Given the description of an element on the screen output the (x, y) to click on. 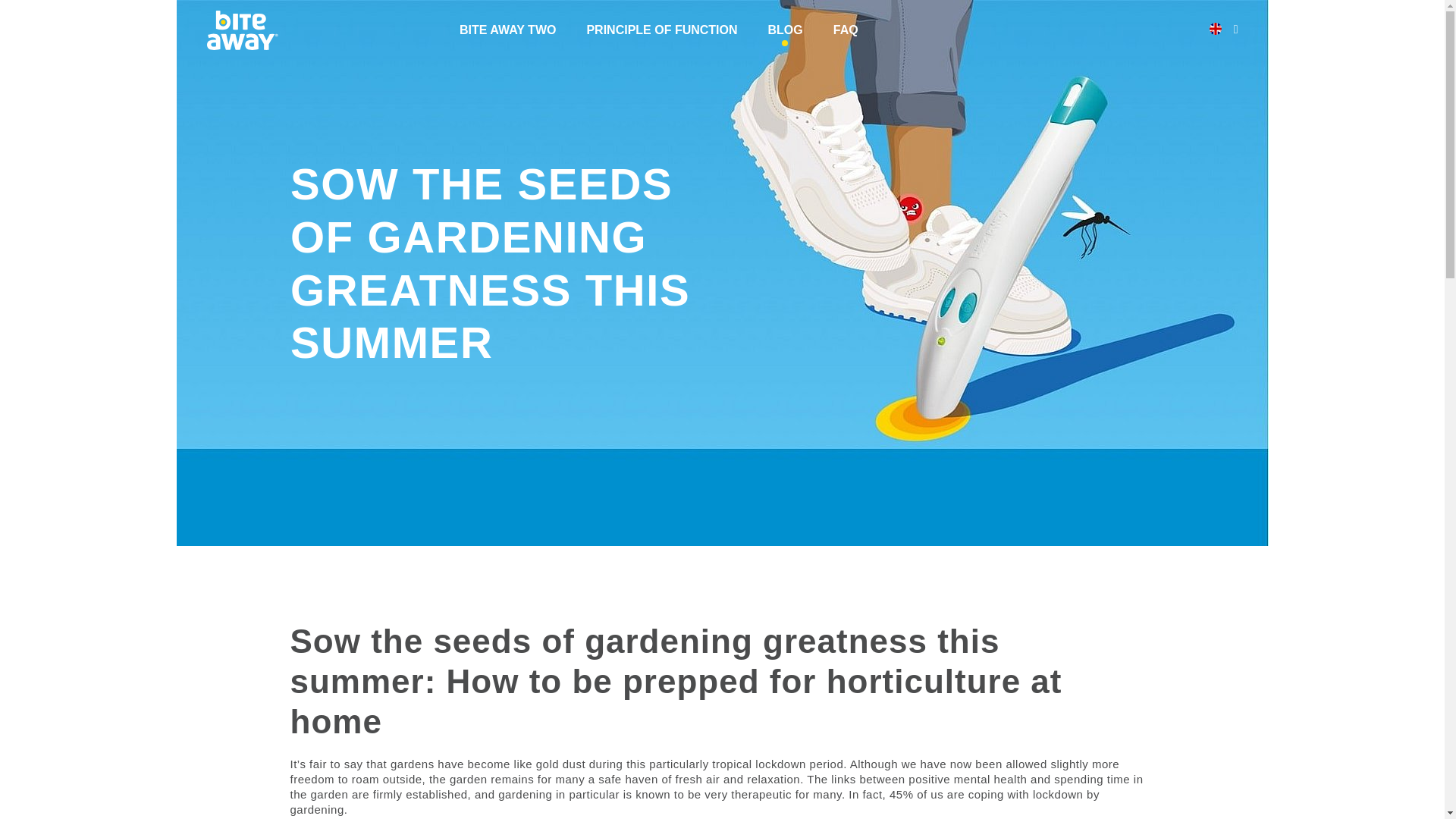
Back to Homepage (242, 30)
BITE AWAY TWO (508, 30)
BLOG (785, 30)
PRINCIPLE OF FUNCTION (661, 30)
BLOG (785, 30)
BITE AWAY TWO (508, 30)
PRINCIPLE OF FUNCTION (661, 30)
